Given the description of an element on the screen output the (x, y) to click on. 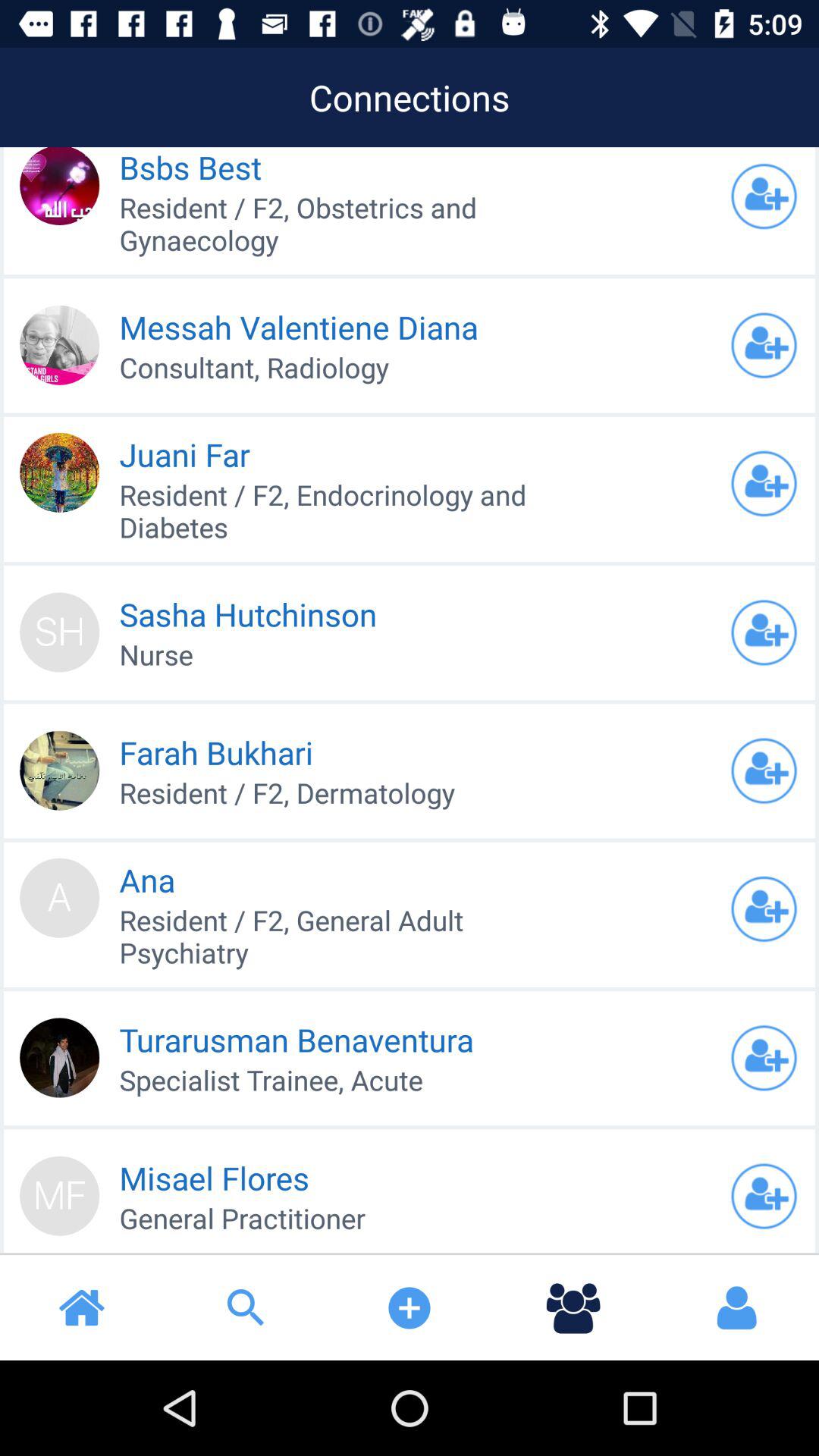
turn off the app below the general practitioner icon (245, 1307)
